Given the description of an element on the screen output the (x, y) to click on. 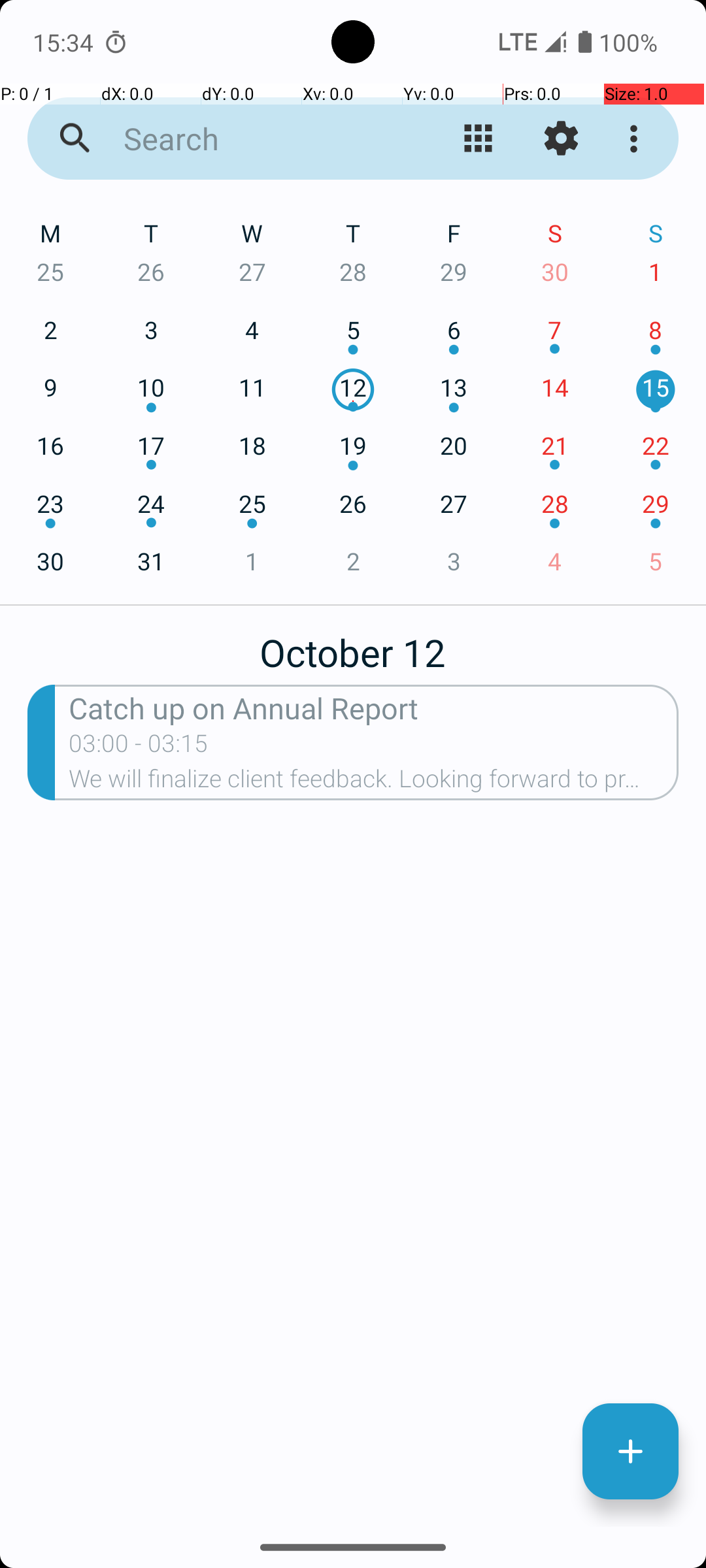
October 12 Element type: android.widget.TextView (352, 644)
03:00 - 03:15 Element type: android.widget.TextView (137, 747)
We will finalize client feedback. Looking forward to productive discussions. Element type: android.widget.TextView (373, 782)
